Given the description of an element on the screen output the (x, y) to click on. 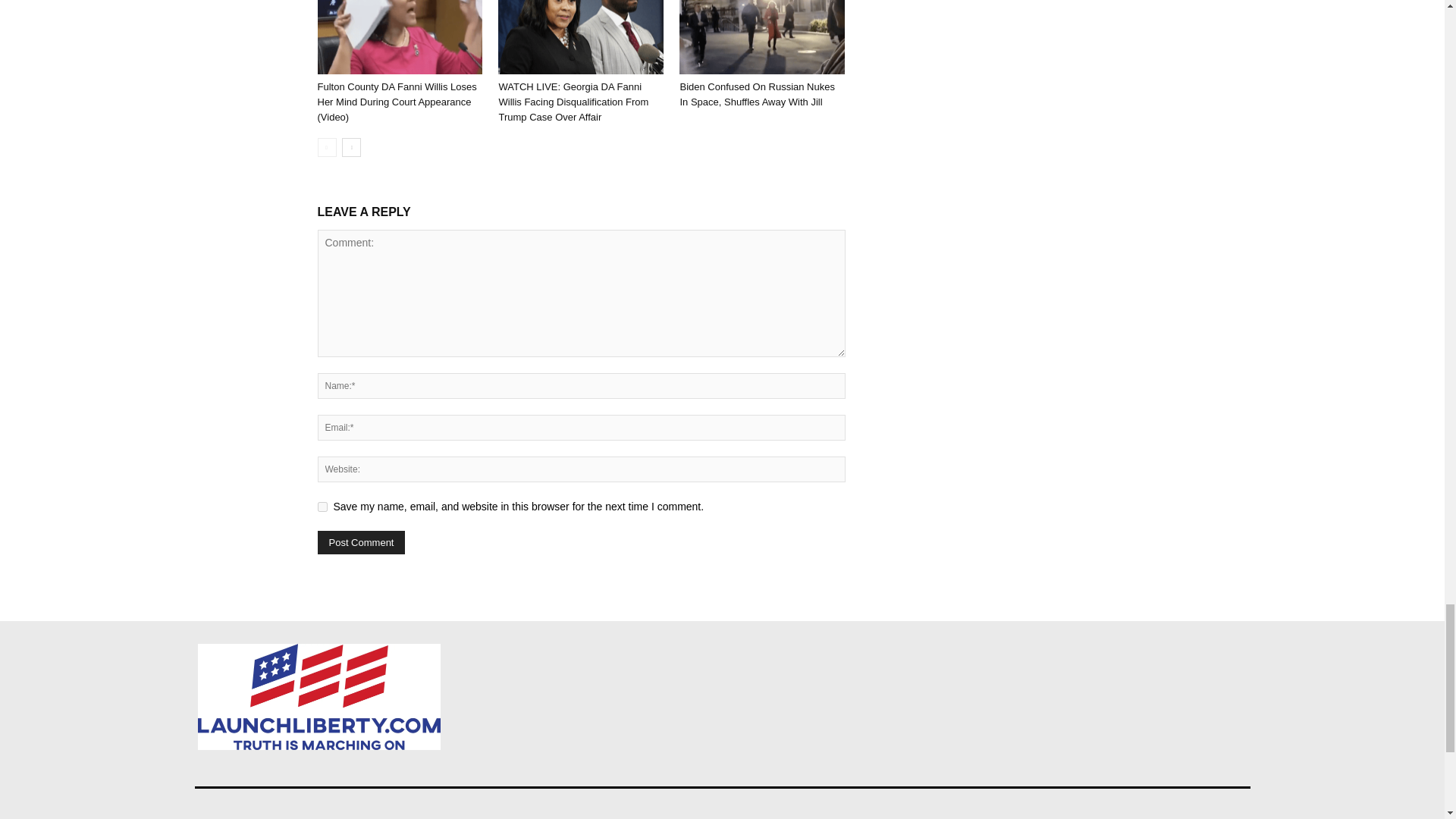
yes (321, 506)
Post Comment (360, 542)
